Given the description of an element on the screen output the (x, y) to click on. 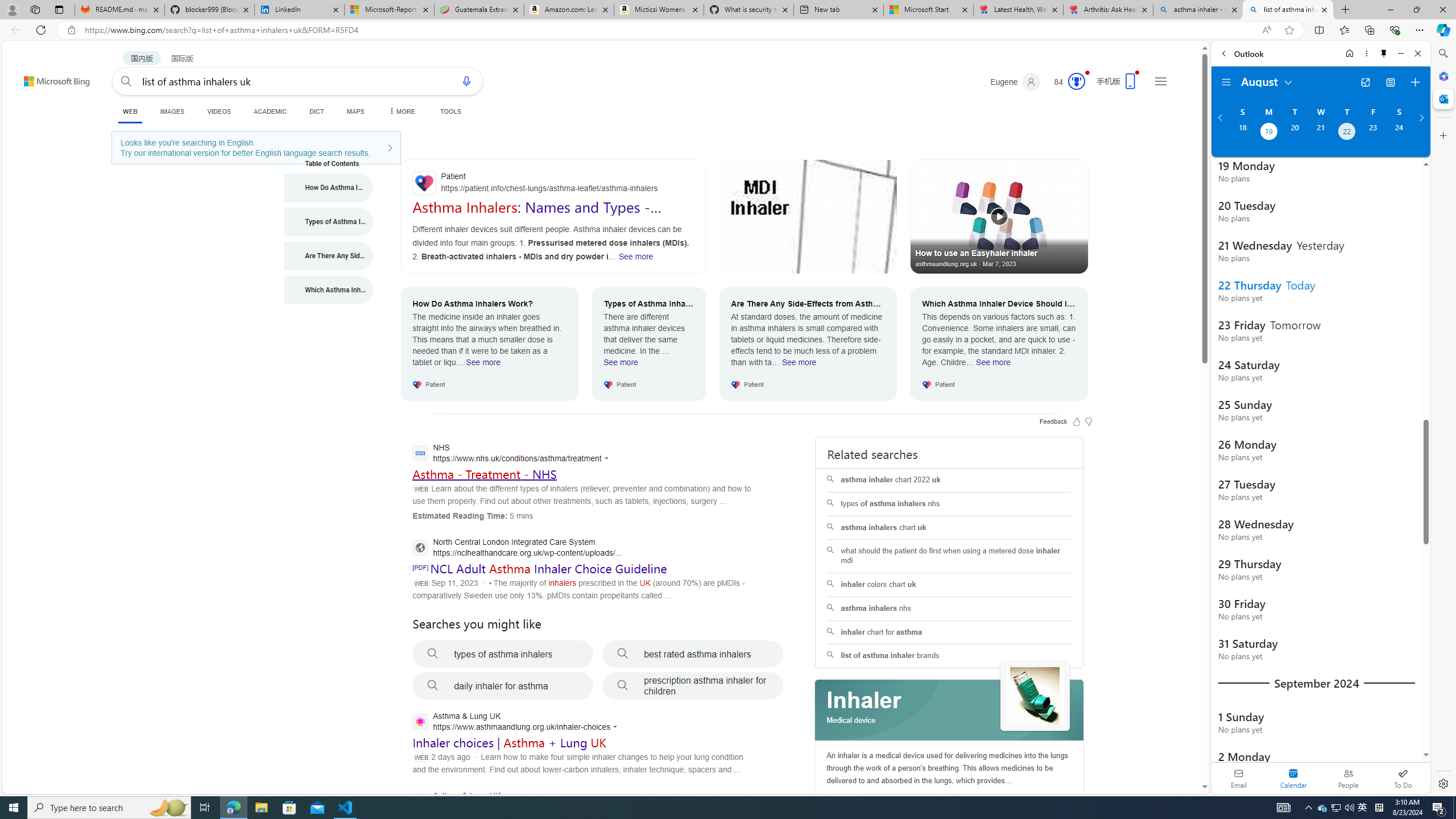
AutomationID: mfa_root (1161, 752)
daily inhaler for asthma (503, 685)
TOOLS (450, 111)
Dropdown Menu (400, 111)
Search using voice (465, 80)
list of asthma inhaler brands (949, 656)
NCL Adult Asthma Inhaler Choice Guideline (547, 568)
MORE (400, 111)
Estimated Reading Time: 5 mins (472, 515)
NHS (513, 454)
